Given the description of an element on the screen output the (x, y) to click on. 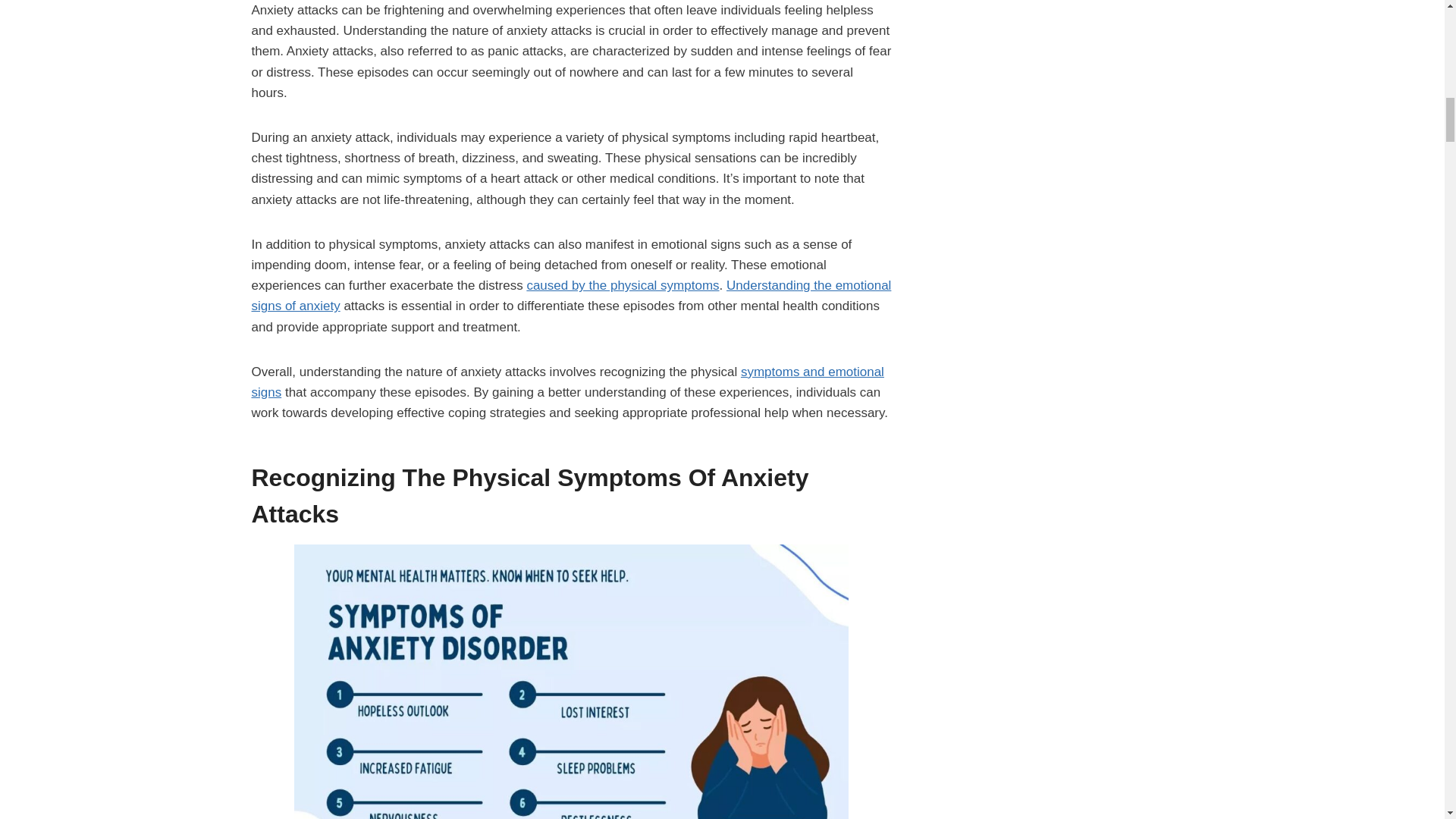
Understanding the emotional signs of anxiety (571, 295)
caused by the physical symptoms (622, 285)
symptoms and emotional signs (567, 381)
